Given the description of an element on the screen output the (x, y) to click on. 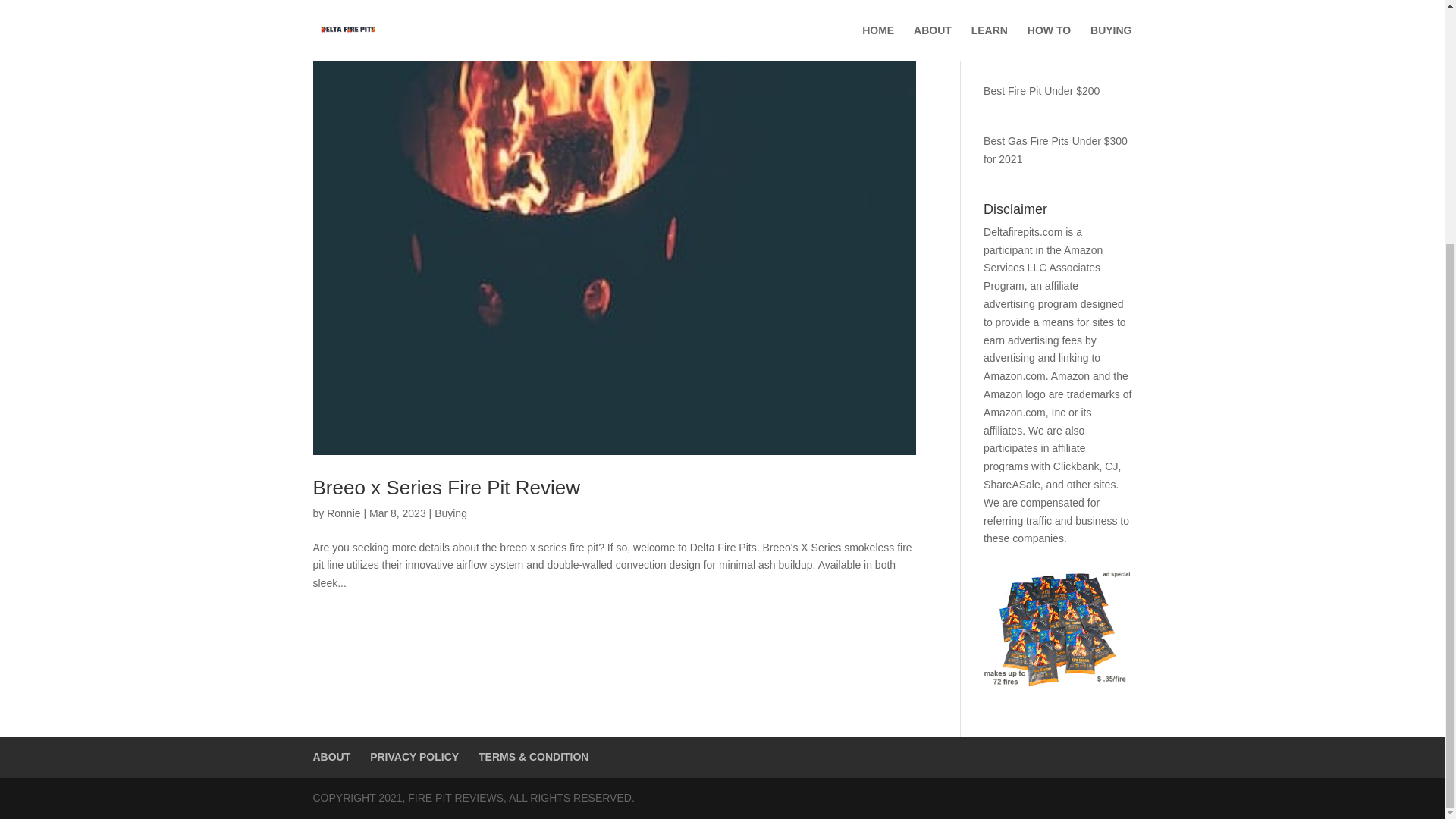
Buying (450, 512)
Ronnie (342, 512)
PRIVACY POLICY (413, 756)
Breeo x Series Fire Pit Review (446, 486)
Best Fire Pit for Roasting Marshmallows (1043, 32)
ABOUT (331, 756)
Posts by Ronnie (342, 512)
